Given the description of an element on the screen output the (x, y) to click on. 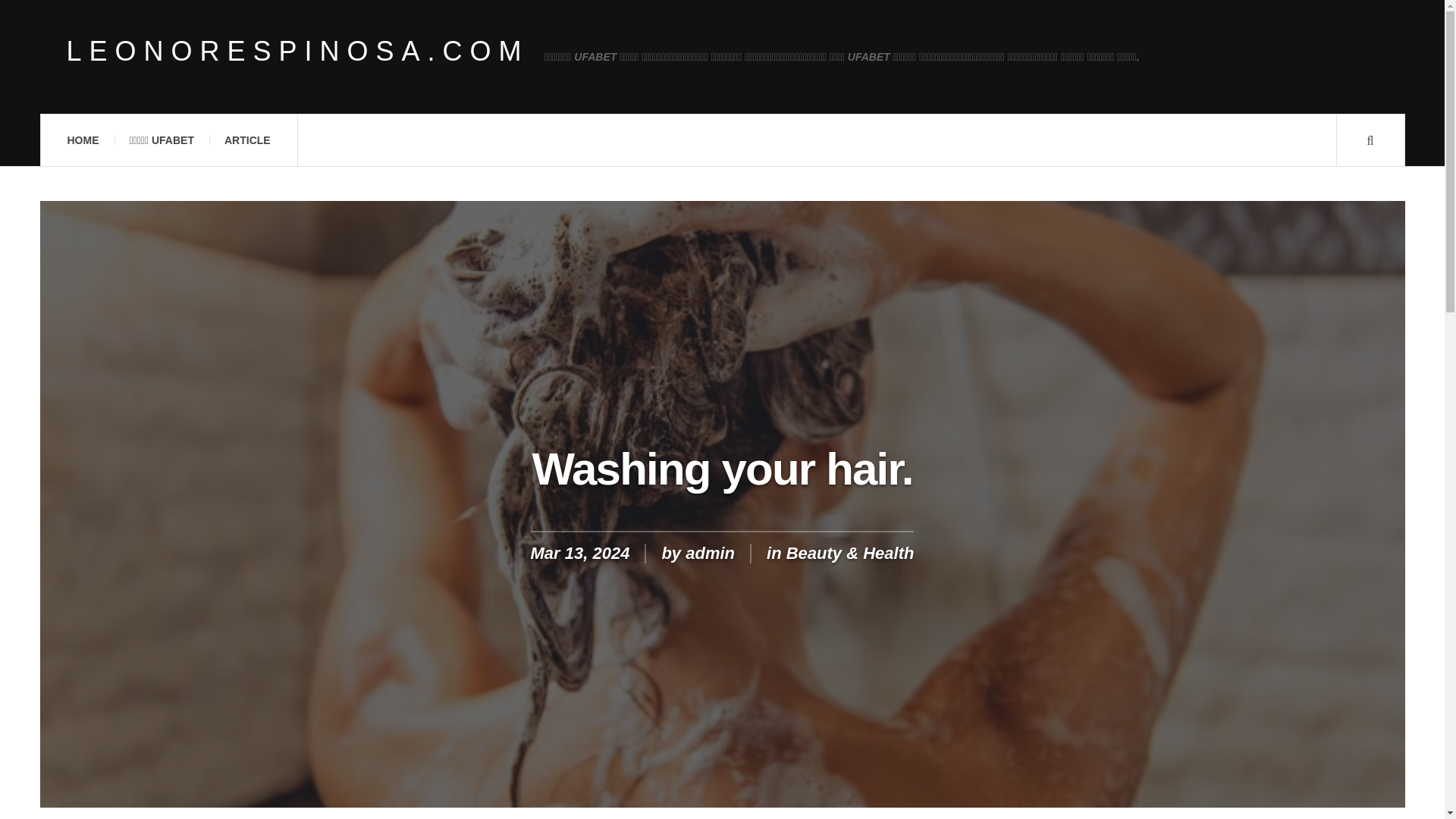
leonorespinosa.com (297, 51)
HOME (81, 140)
ARTICLE (247, 140)
LEONORESPINOSA.COM (297, 51)
admin (710, 552)
